Given the description of an element on the screen output the (x, y) to click on. 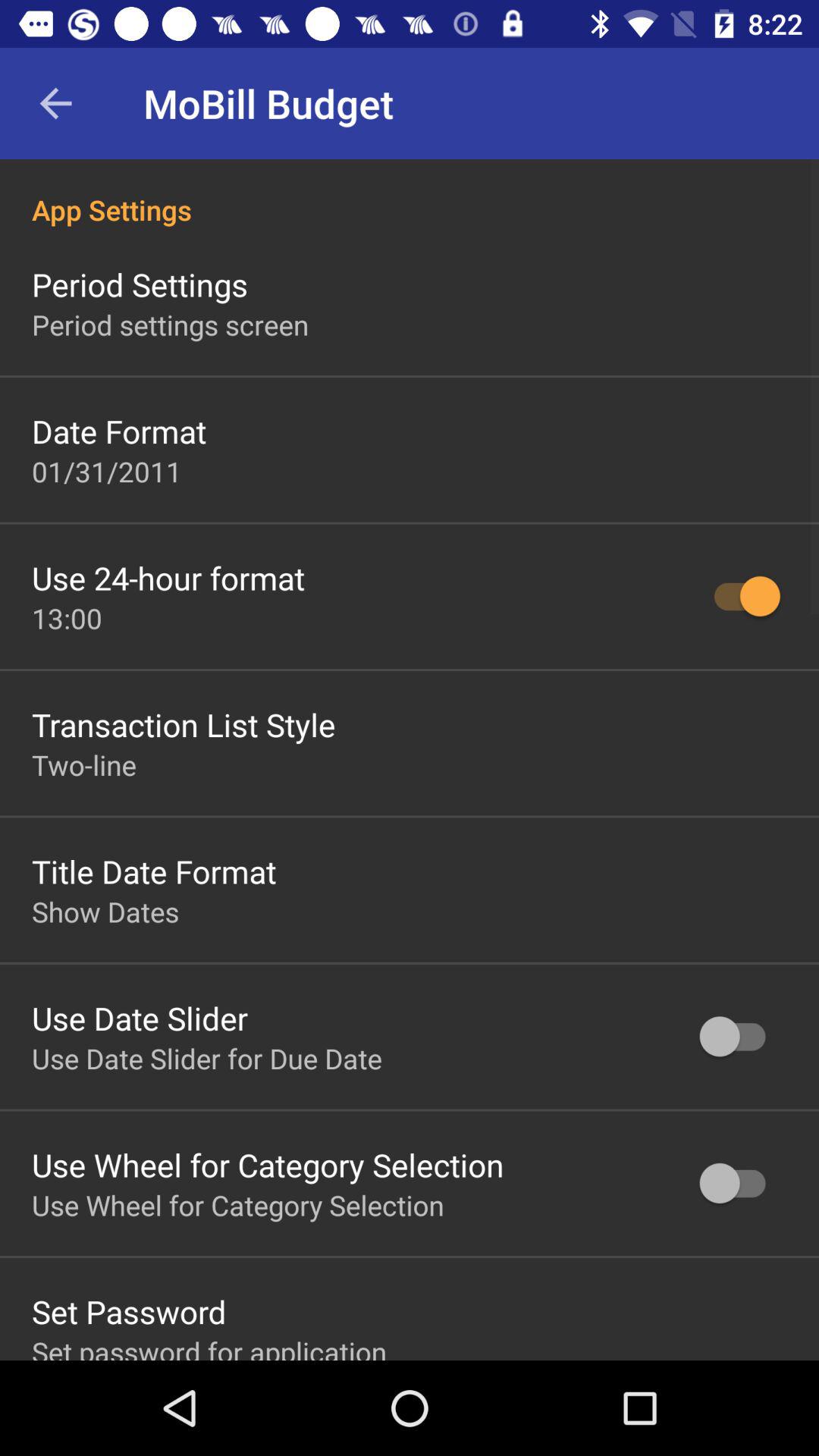
back arrow (55, 103)
